Given the description of an element on the screen output the (x, y) to click on. 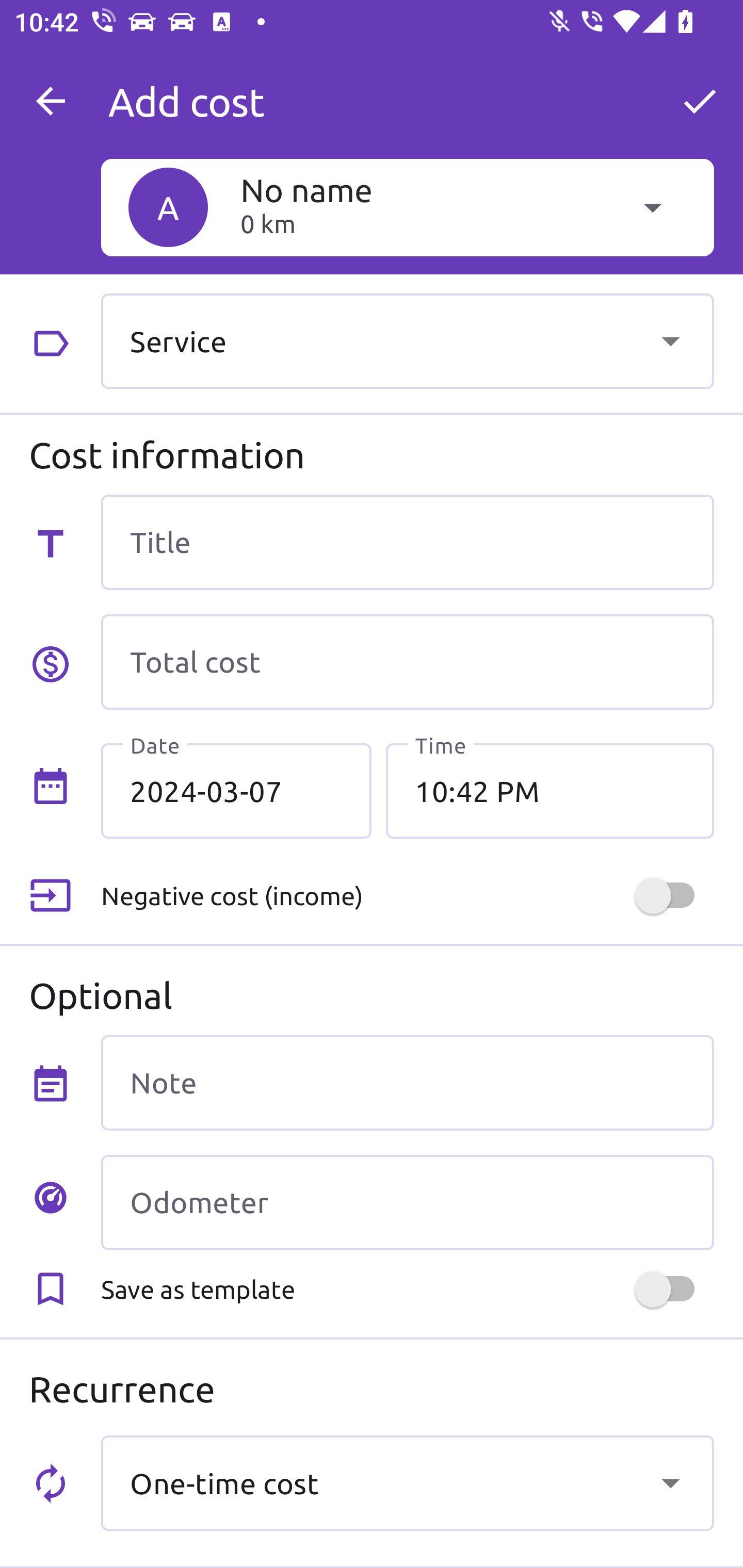
Navigate up (50, 101)
OK (699, 101)
A No name 0 km (407, 206)
Service (407, 340)
Show dropdown menu (670, 340)
Title (407, 541)
Total cost  (407, 662)
2024-03-07 (236, 790)
10:42 PM (549, 790)
Negative cost (income) (407, 895)
Note (407, 1082)
Odometer (407, 1202)
Save as template (407, 1289)
One-time cost (407, 1482)
Show dropdown menu (670, 1482)
